Given the description of an element on the screen output the (x, y) to click on. 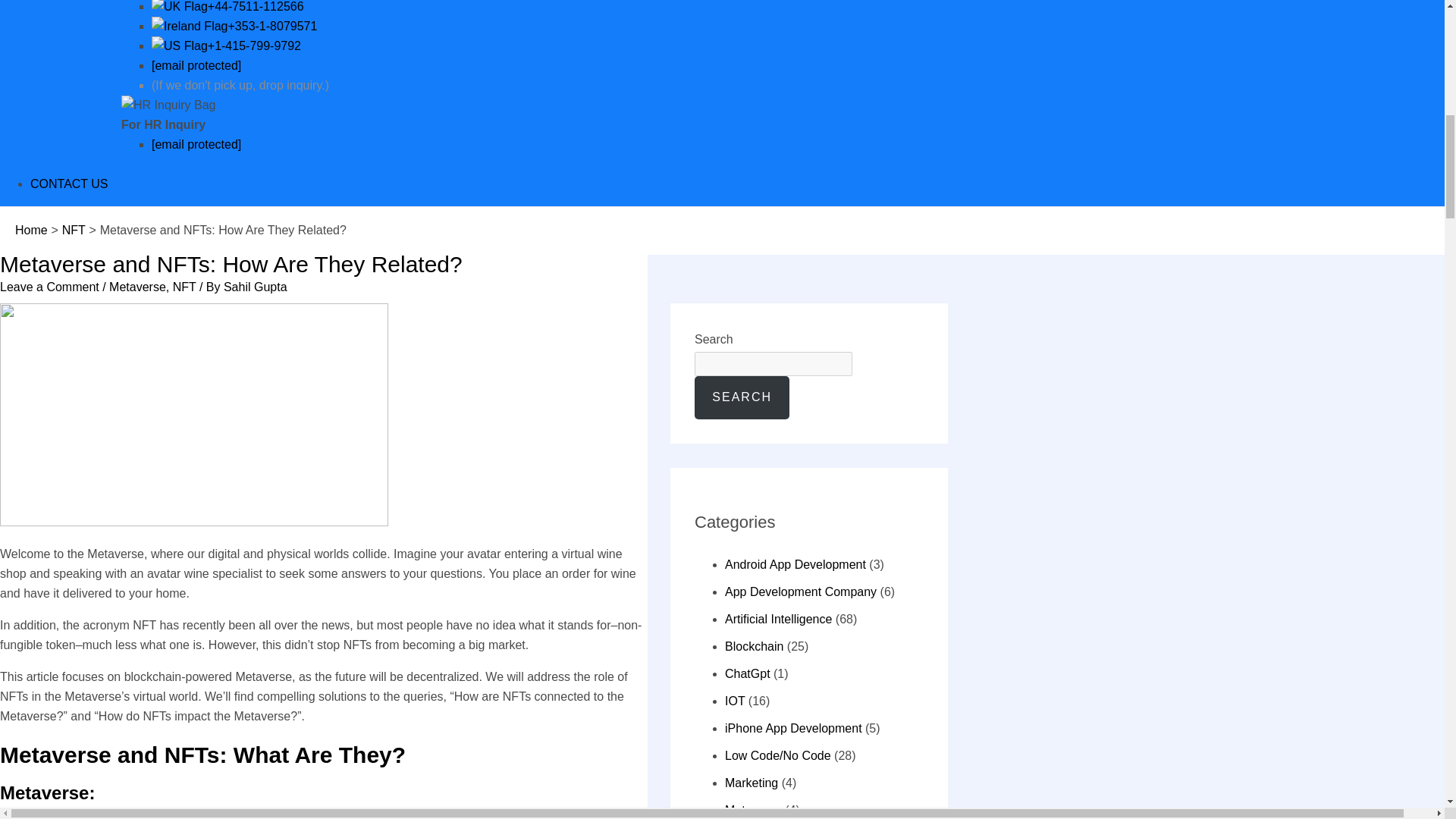
View all posts by Sahil Gupta (255, 286)
